Given the description of an element on the screen output the (x, y) to click on. 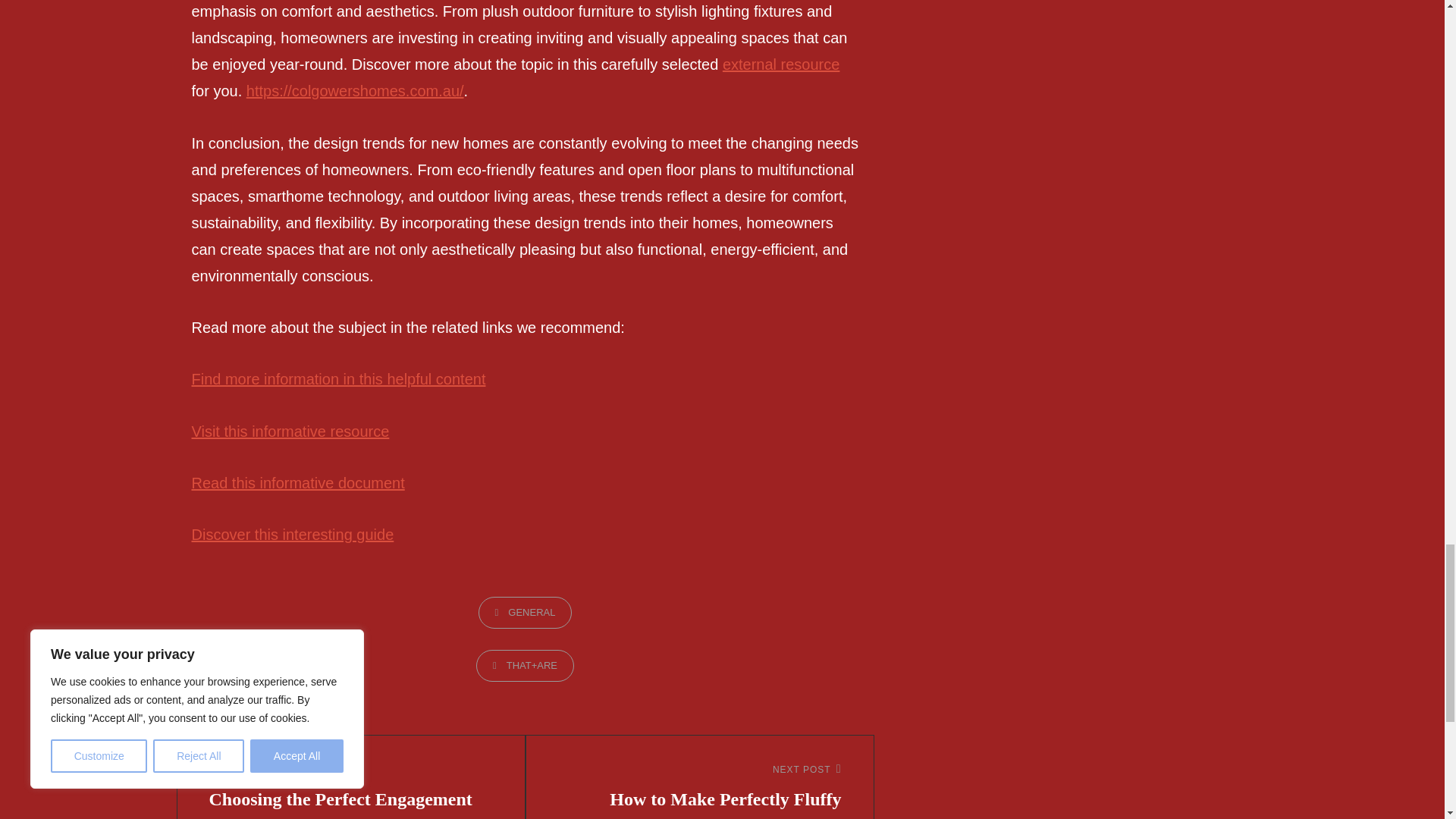
Visit this informative resource (289, 431)
Discover this interesting guide (291, 534)
Read this informative document (297, 483)
GENERAL (525, 612)
Find more information in this helpful content (337, 379)
external resource (781, 64)
